Given the description of an element on the screen output the (x, y) to click on. 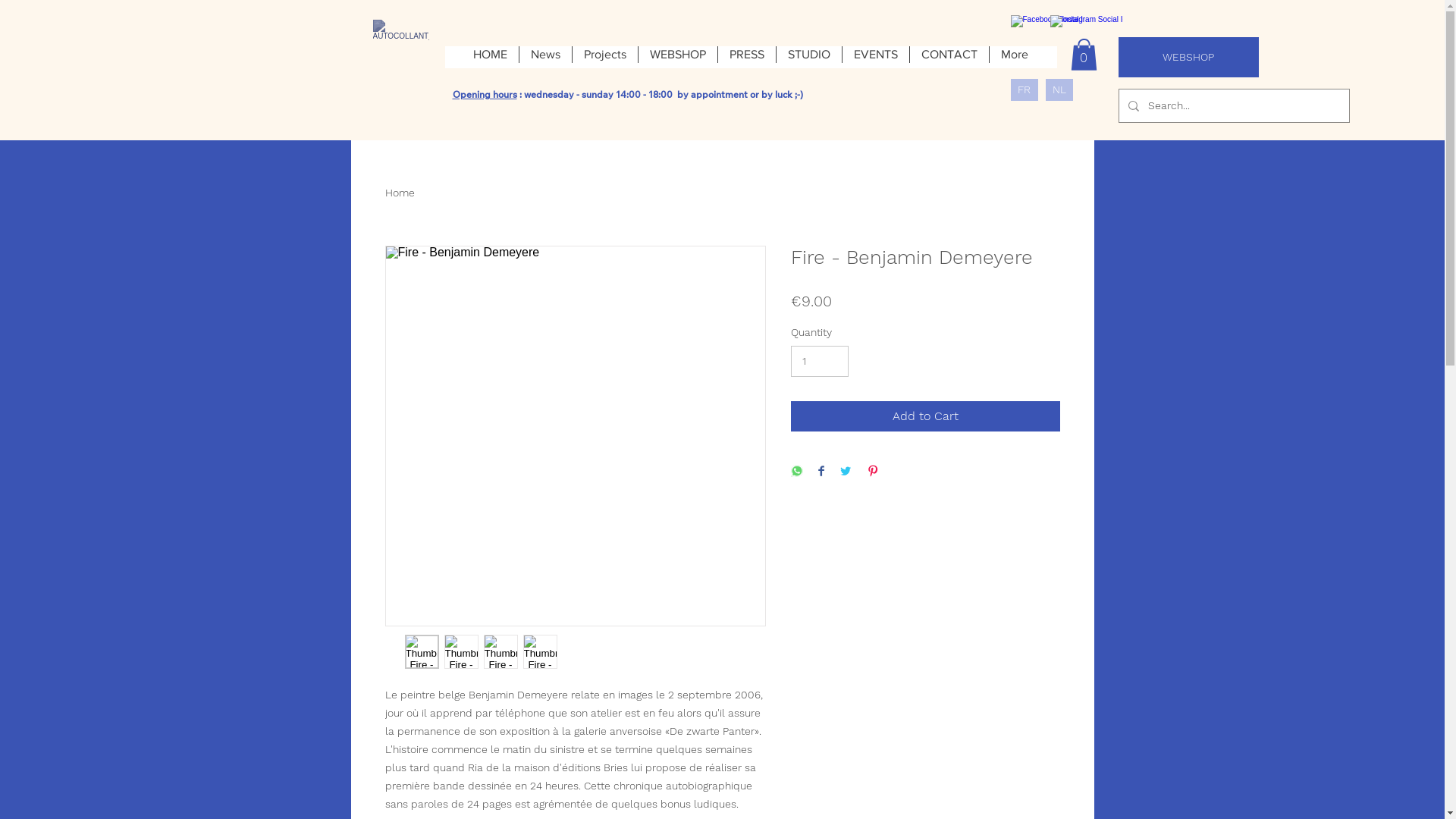
PRESS Element type: text (746, 57)
Home Element type: text (399, 192)
NL Element type: text (1058, 89)
0 Element type: text (1083, 54)
WEBSHOP Element type: text (677, 57)
EVENTS Element type: text (875, 57)
STUDIO Element type: text (808, 57)
FR Element type: text (1023, 89)
Projects Element type: text (604, 57)
HOME Element type: text (489, 57)
WEBSHOP Element type: text (1187, 57)
CONTACT Element type: text (948, 57)
News Element type: text (544, 57)
Add to Cart Element type: text (924, 416)
